Given the description of an element on the screen output the (x, y) to click on. 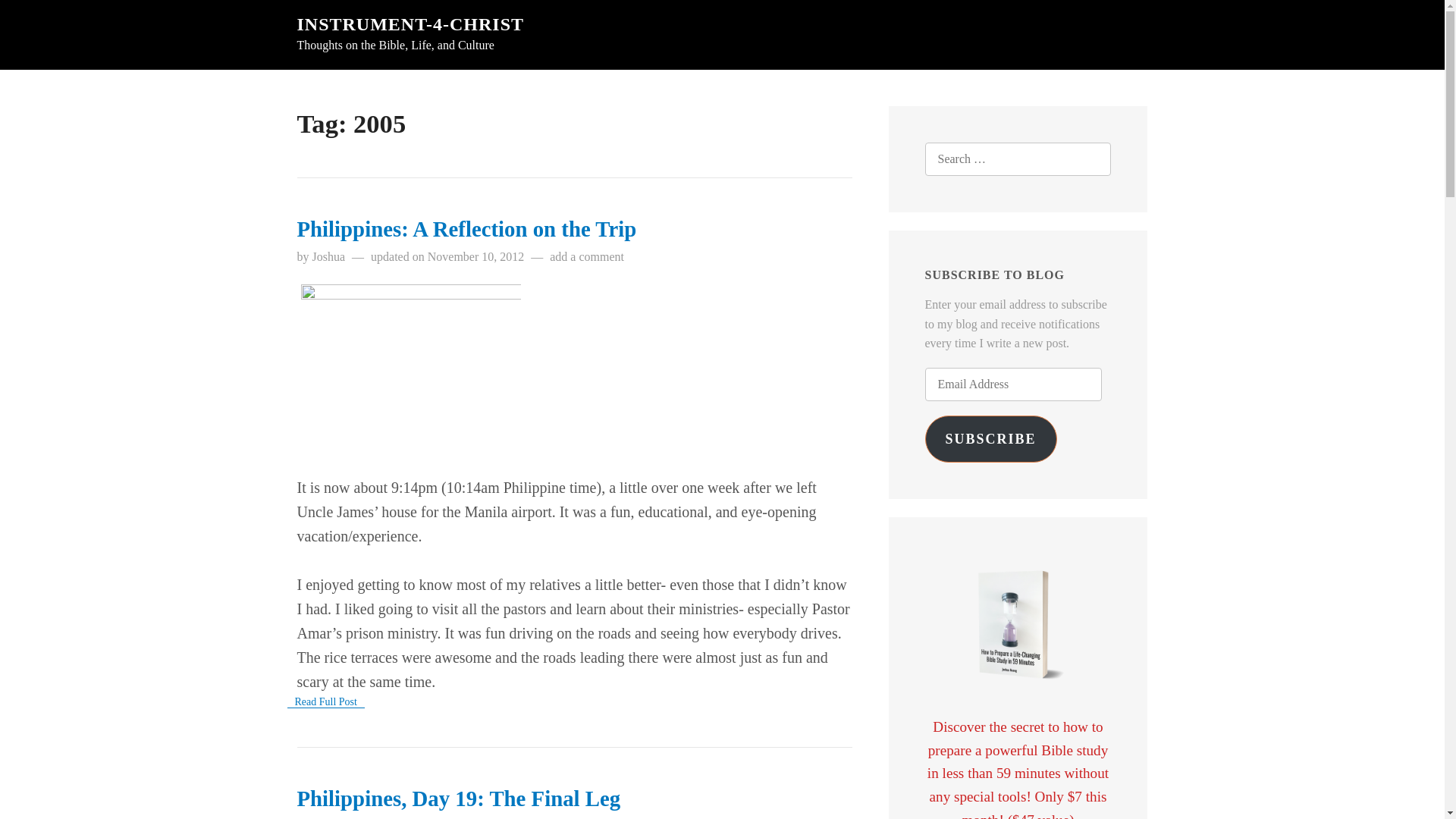
Philippines: A Reflection on the Trip (467, 228)
Search (42, 18)
At the Ocean (409, 364)
INSTRUMENT-4-CHRIST (410, 24)
Read Full Post (325, 702)
add a comment (587, 256)
SUBSCRIBE (990, 438)
Joshua (329, 256)
Philippines, Day 19: The Final Leg (459, 798)
